Given the description of an element on the screen output the (x, y) to click on. 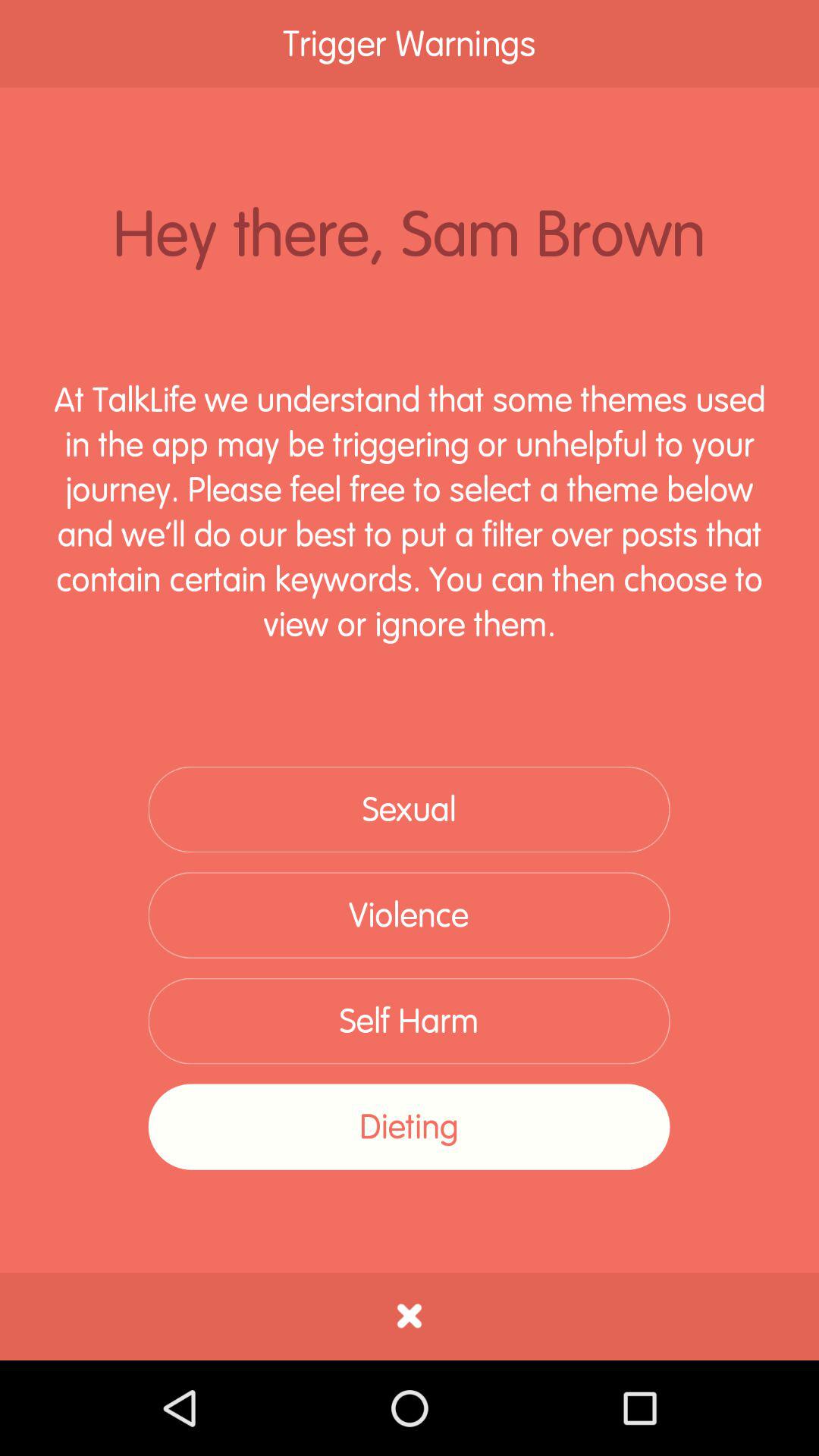
scroll to trigger warnings (409, 43)
